Given the description of an element on the screen output the (x, y) to click on. 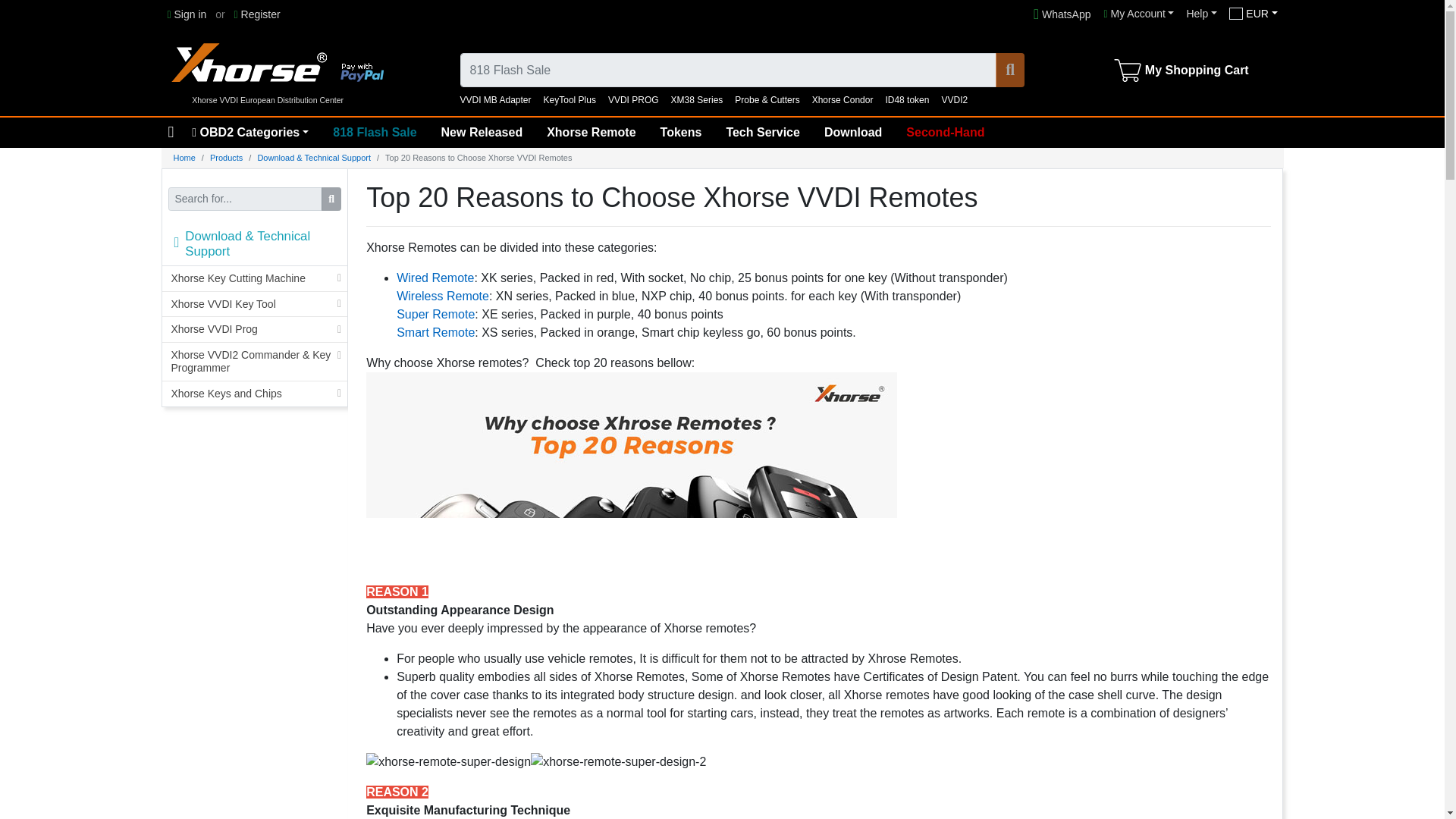
ID48 token (906, 100)
Help (1201, 13)
My Account (1138, 13)
KeyTool Plus (569, 100)
VVDI MB Adapter (495, 100)
VVDI PROG (633, 100)
Xhorse VVDI European Distribution Center (274, 57)
WhatsApp (1061, 14)
XM38 Series (697, 100)
EUR (1253, 13)
